Given the description of an element on the screen output the (x, y) to click on. 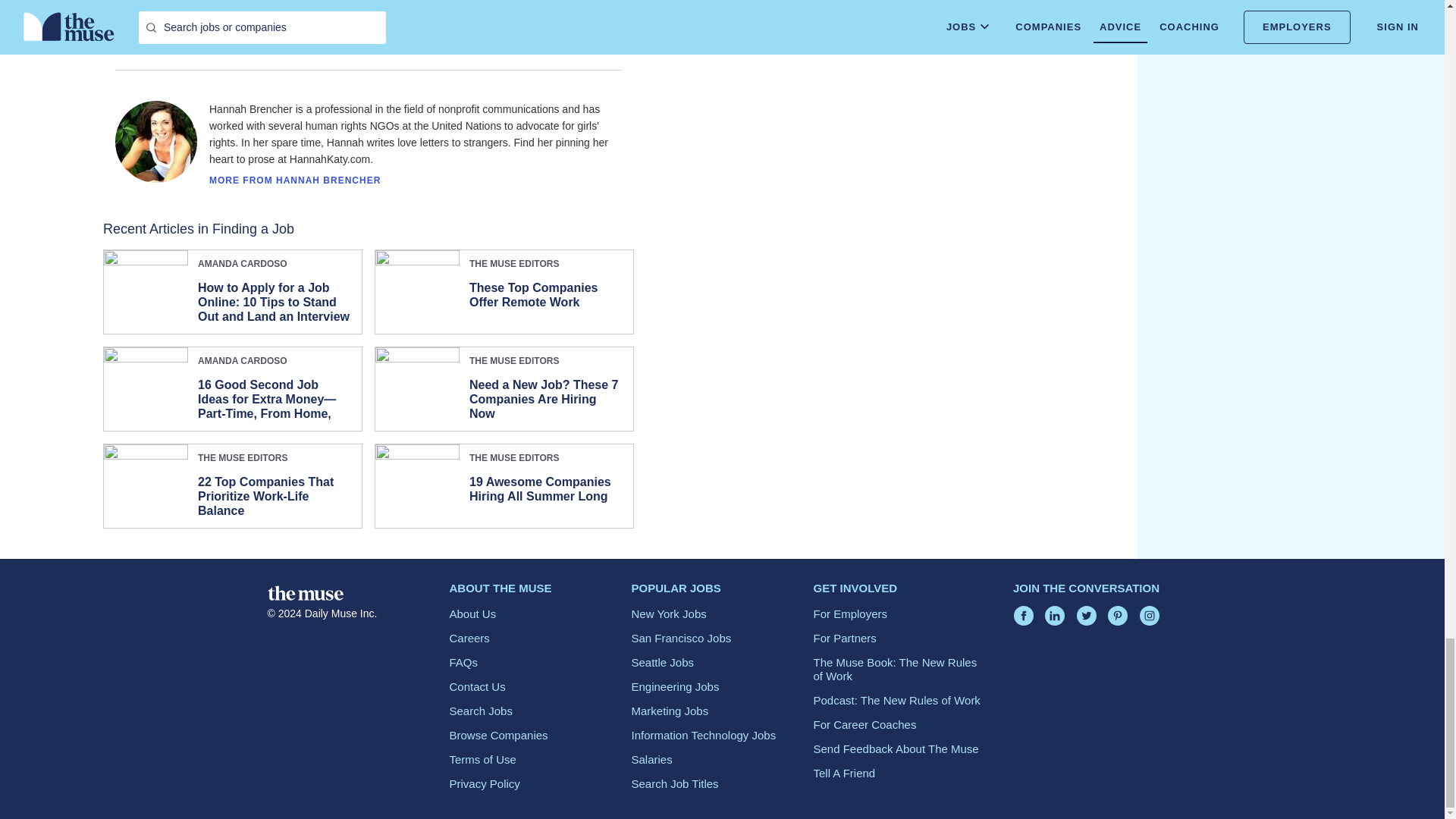
The Muse LogoA logo with "the muse" in white text. (304, 592)
